Given the description of an element on the screen output the (x, y) to click on. 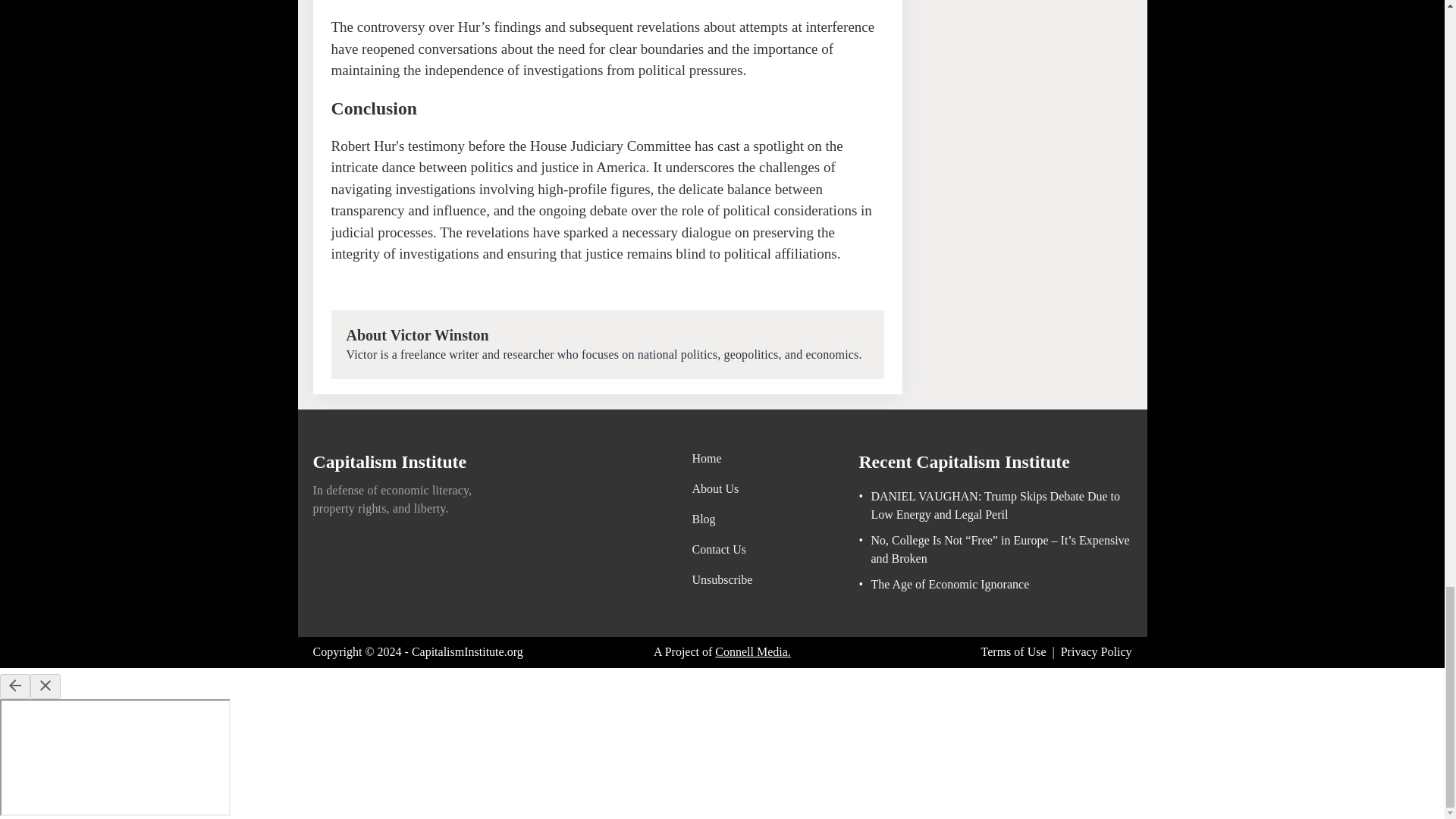
The Age of Economic Ignorance (944, 584)
Contact Us (721, 549)
Blog (721, 519)
About Us (721, 488)
Unsubscribe (721, 579)
Home (721, 458)
Capitalism Institute (390, 464)
Connell Media. (752, 651)
